Given the description of an element on the screen output the (x, y) to click on. 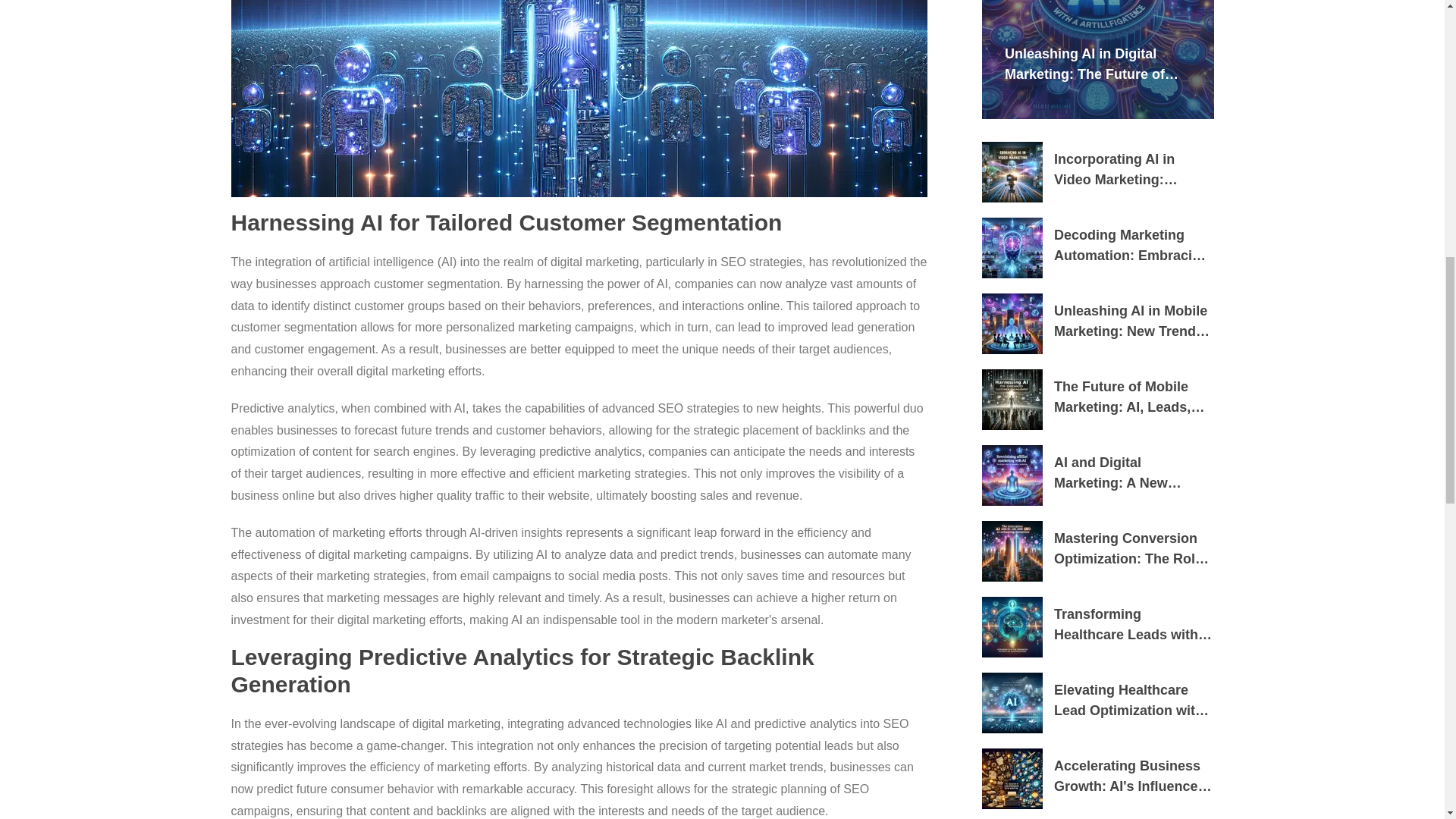
Unleashing AI in Mobile Marketing: New Trends and Strategies (1132, 321)
